Given the description of an element on the screen output the (x, y) to click on. 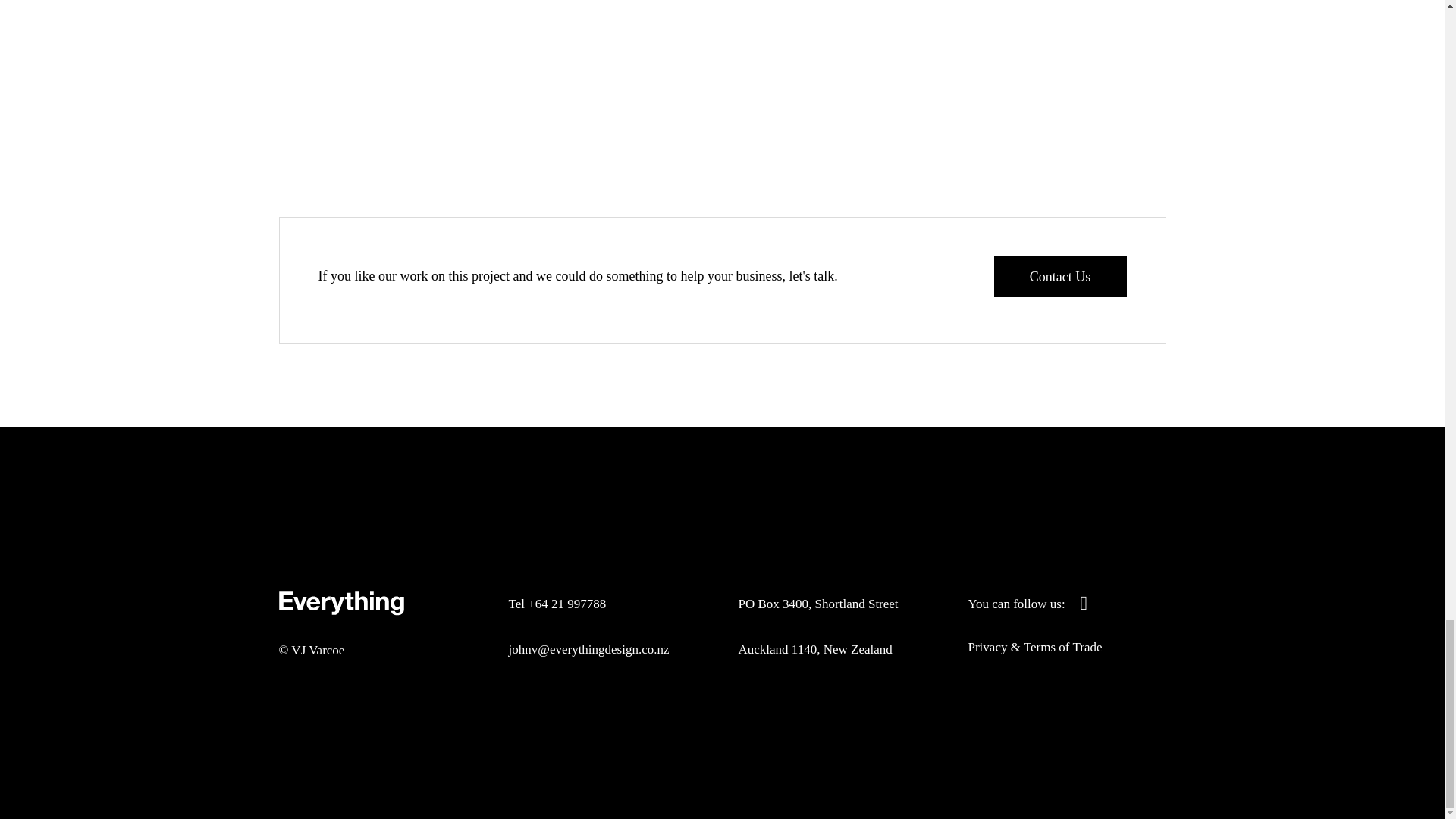
Contact Us (1058, 276)
